Given the description of an element on the screen output the (x, y) to click on. 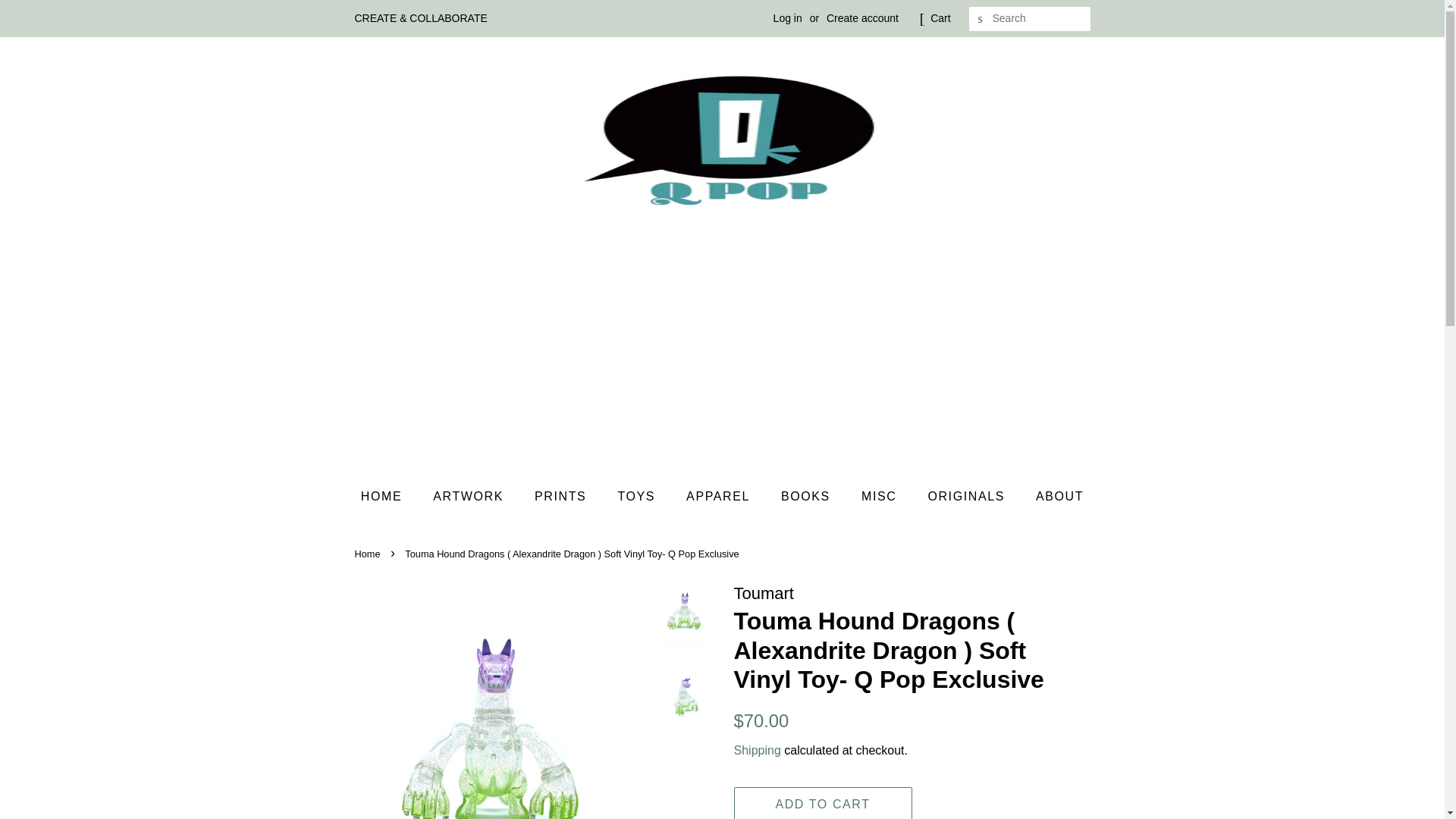
ABOUT (1054, 495)
Back to the frontpage (369, 553)
SEARCH (980, 18)
MISC (880, 495)
Create account (862, 18)
ORIGINALS (967, 495)
ARTWORK (470, 495)
PRINTS (561, 495)
Cart (940, 18)
Log in (787, 18)
Home (369, 553)
TOYS (637, 495)
Shipping (756, 749)
ADD TO CART (822, 803)
BOOKS (807, 495)
